Given the description of an element on the screen output the (x, y) to click on. 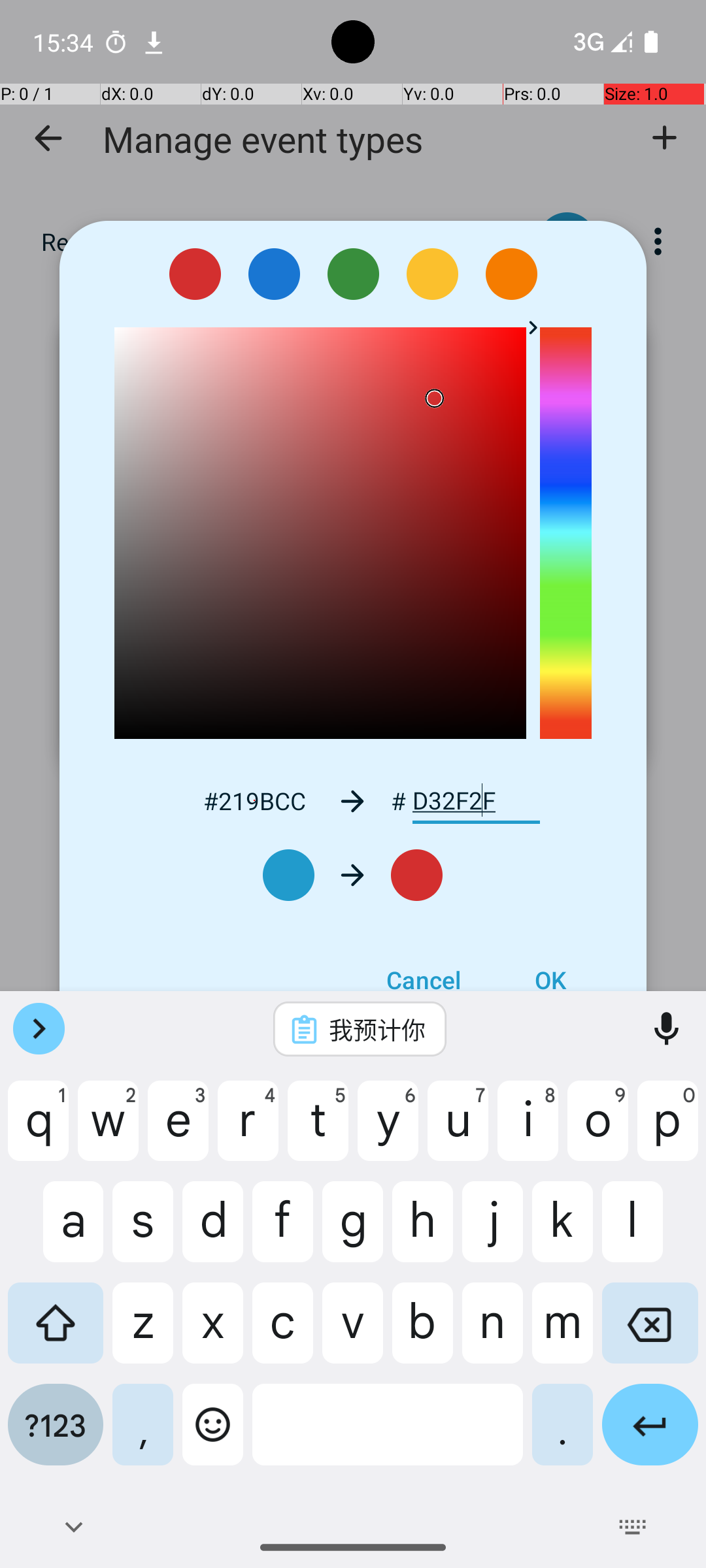
D32F2F Element type: android.widget.EditText (475, 800)
我预计你 Element type: android.widget.TextView (376, 1028)
